Given the description of an element on the screen output the (x, y) to click on. 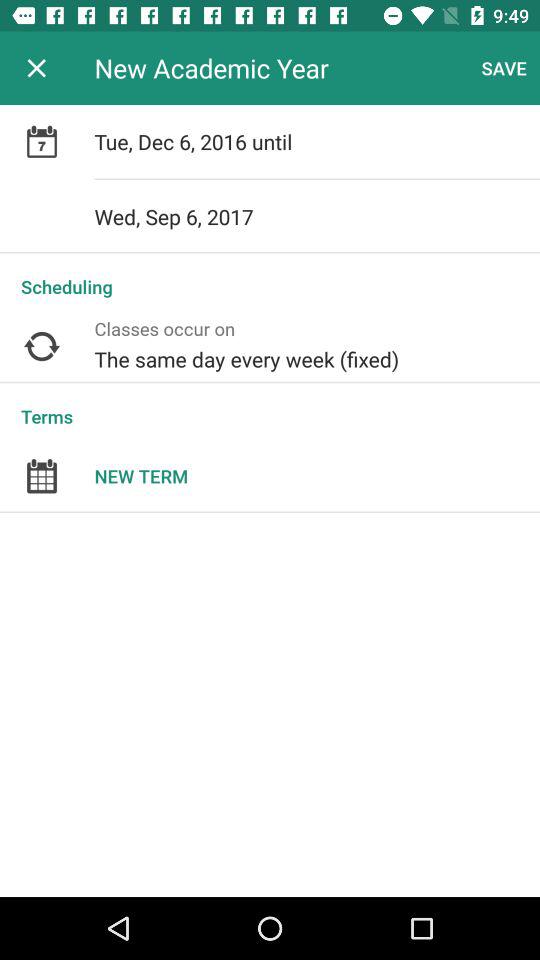
turn on the the same day icon (317, 346)
